Given the description of an element on the screen output the (x, y) to click on. 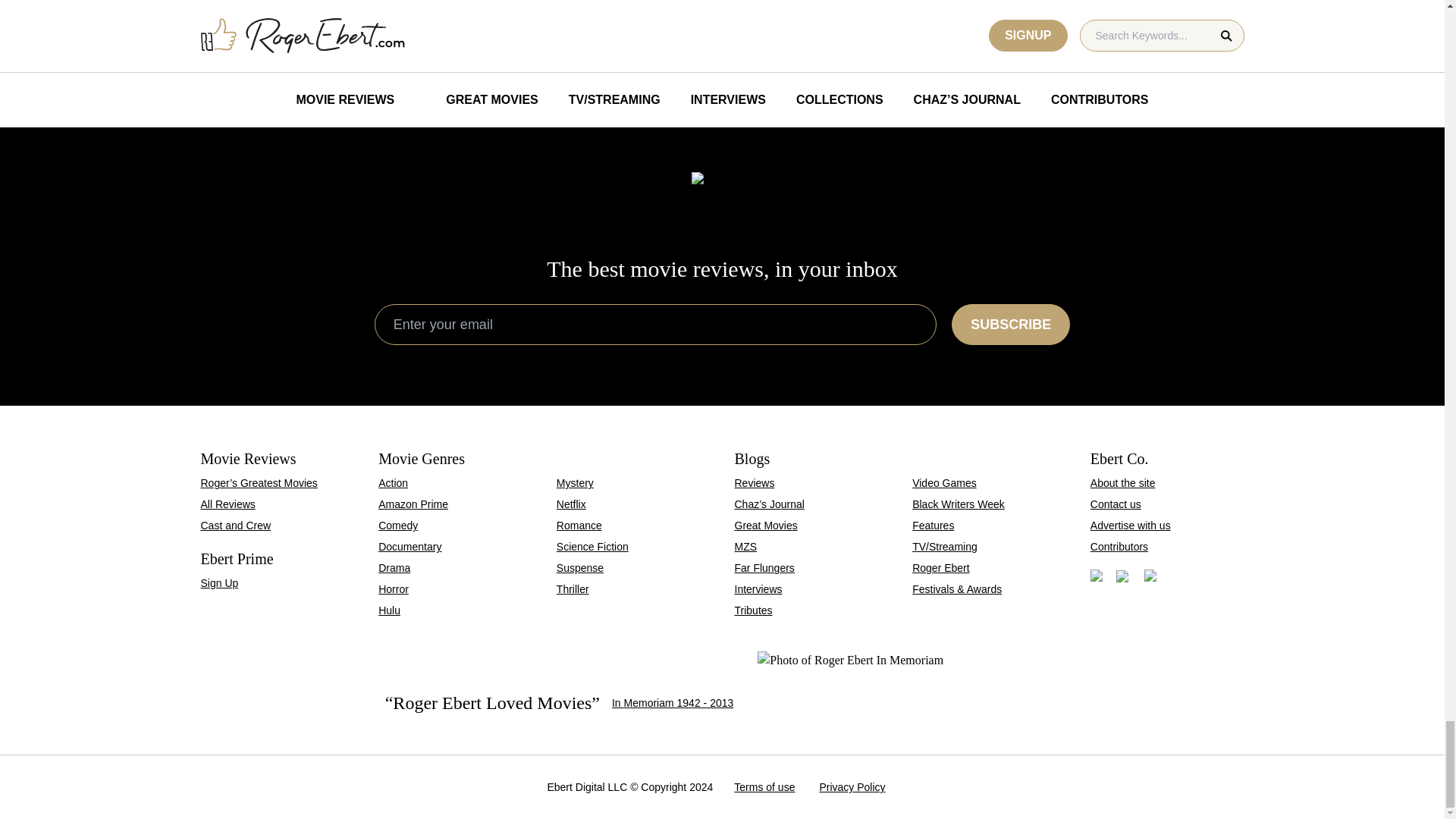
Cast and Crew (854, 22)
Subscribe (321, 22)
Subscribe (235, 525)
All Reviews (588, 22)
